Given the description of an element on the screen output the (x, y) to click on. 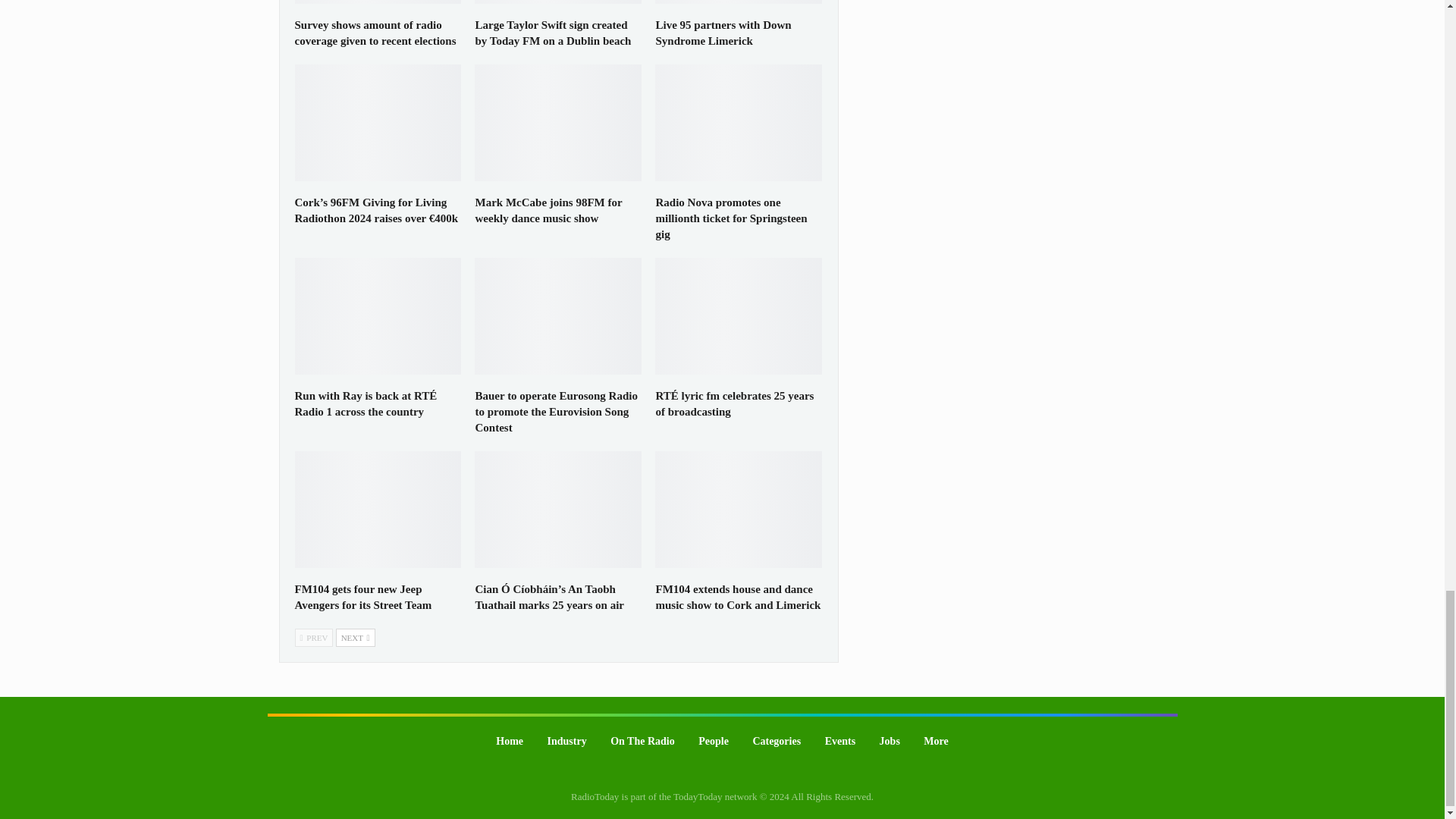
Mark McCabe joins 98FM for weekly dance music show (547, 210)
Live 95 partners with Down Syndrome Limerick (722, 32)
Radio Nova promotes one millionth ticket for Springsteen gig (730, 218)
Live 95 partners with Down Syndrome Limerick (738, 2)
Mark McCabe joins 98FM for weekly dance music show (558, 122)
Radio Nova promotes one millionth ticket for Springsteen gig (738, 122)
